Given the description of an element on the screen output the (x, y) to click on. 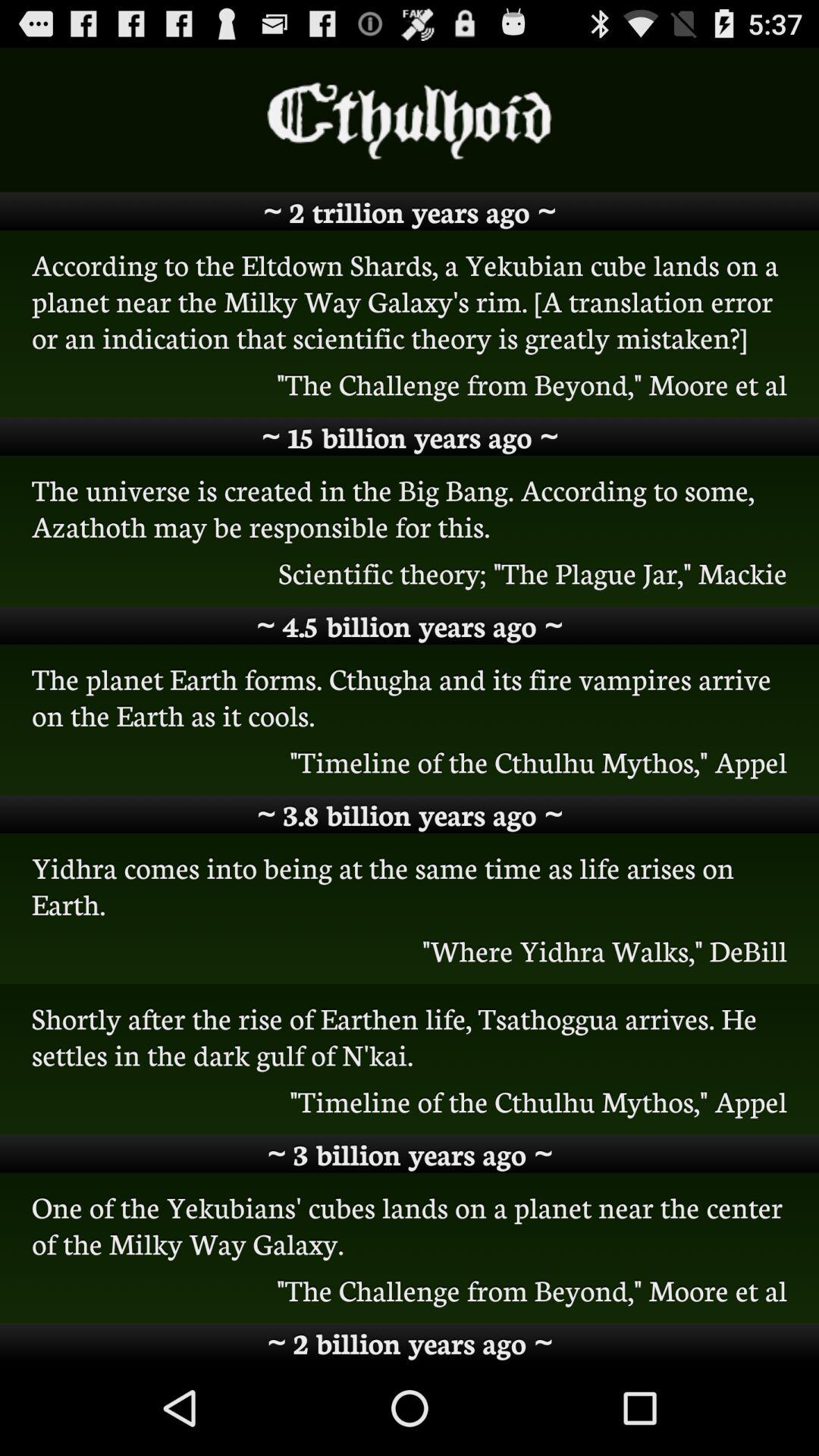
open icon below where yidhra walks icon (409, 1035)
